Given the description of an element on the screen output the (x, y) to click on. 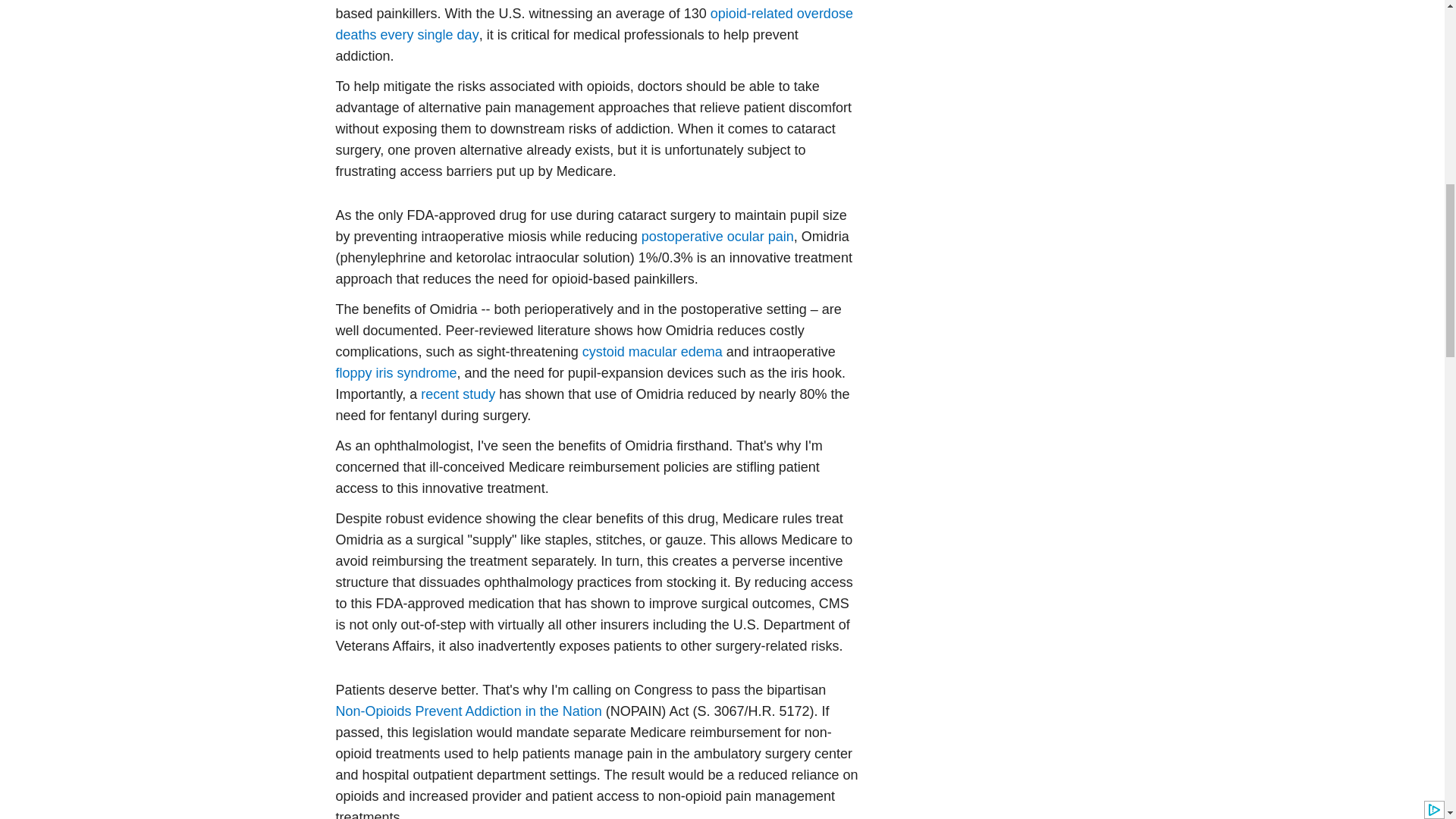
Opens in a new tab or window (467, 711)
Opens in a new tab or window (592, 23)
Opens in a new tab or window (652, 351)
Opens in a new tab or window (429, 34)
Opens in a new tab or window (717, 236)
Opens in a new tab or window (395, 372)
Opens in a new tab or window (457, 394)
